Given the description of an element on the screen output the (x, y) to click on. 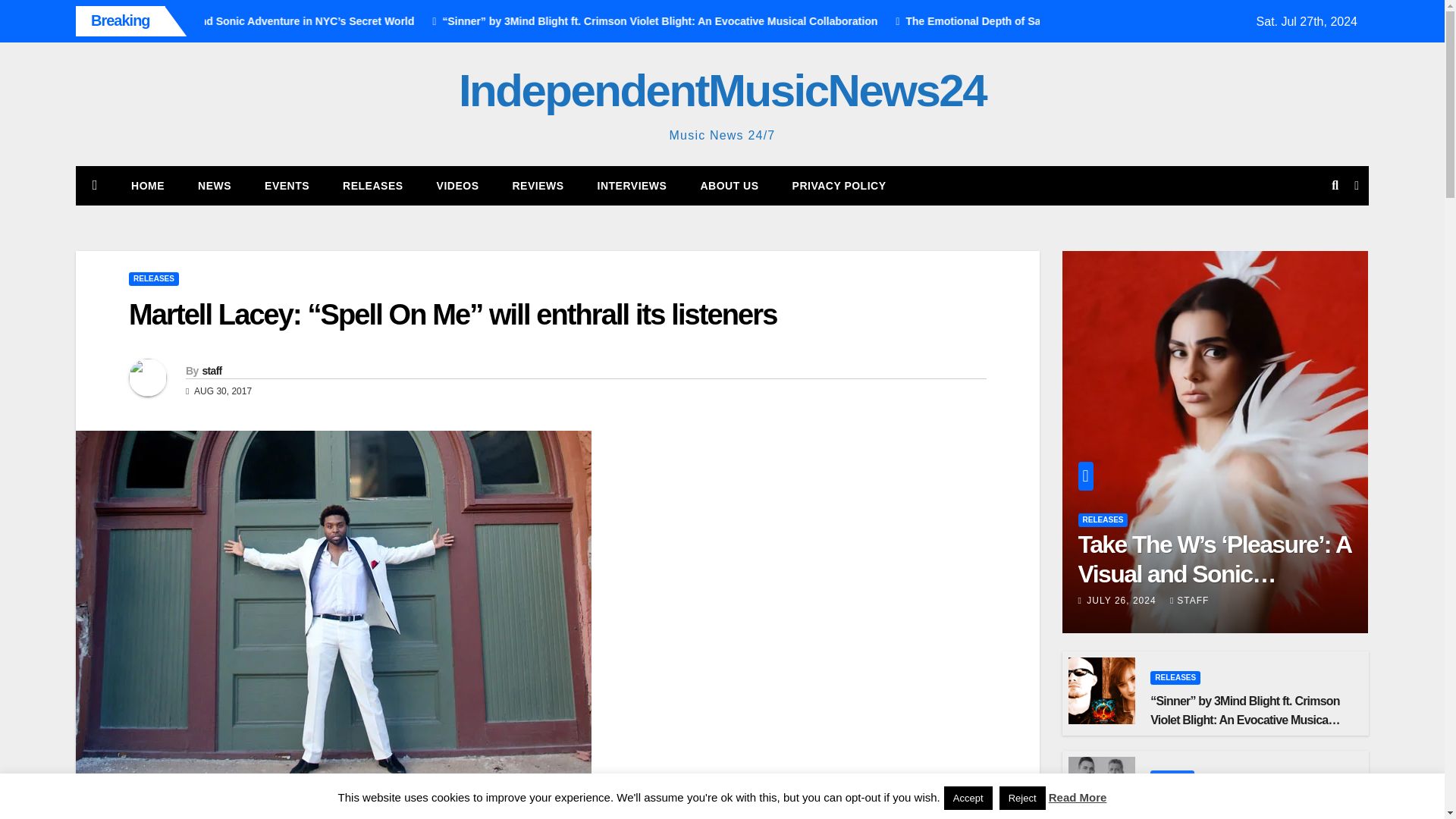
Videos (458, 185)
Events (286, 185)
staff (211, 370)
News (213, 185)
Twitter (157, 818)
REVIEWS (537, 185)
NEWS (213, 185)
EVENTS (286, 185)
Home (147, 185)
RELEASES (154, 278)
Interviews (632, 185)
Facebook (179, 818)
Privacy Policy (839, 185)
Reviews (537, 185)
Releases (372, 185)
